Given the description of an element on the screen output the (x, y) to click on. 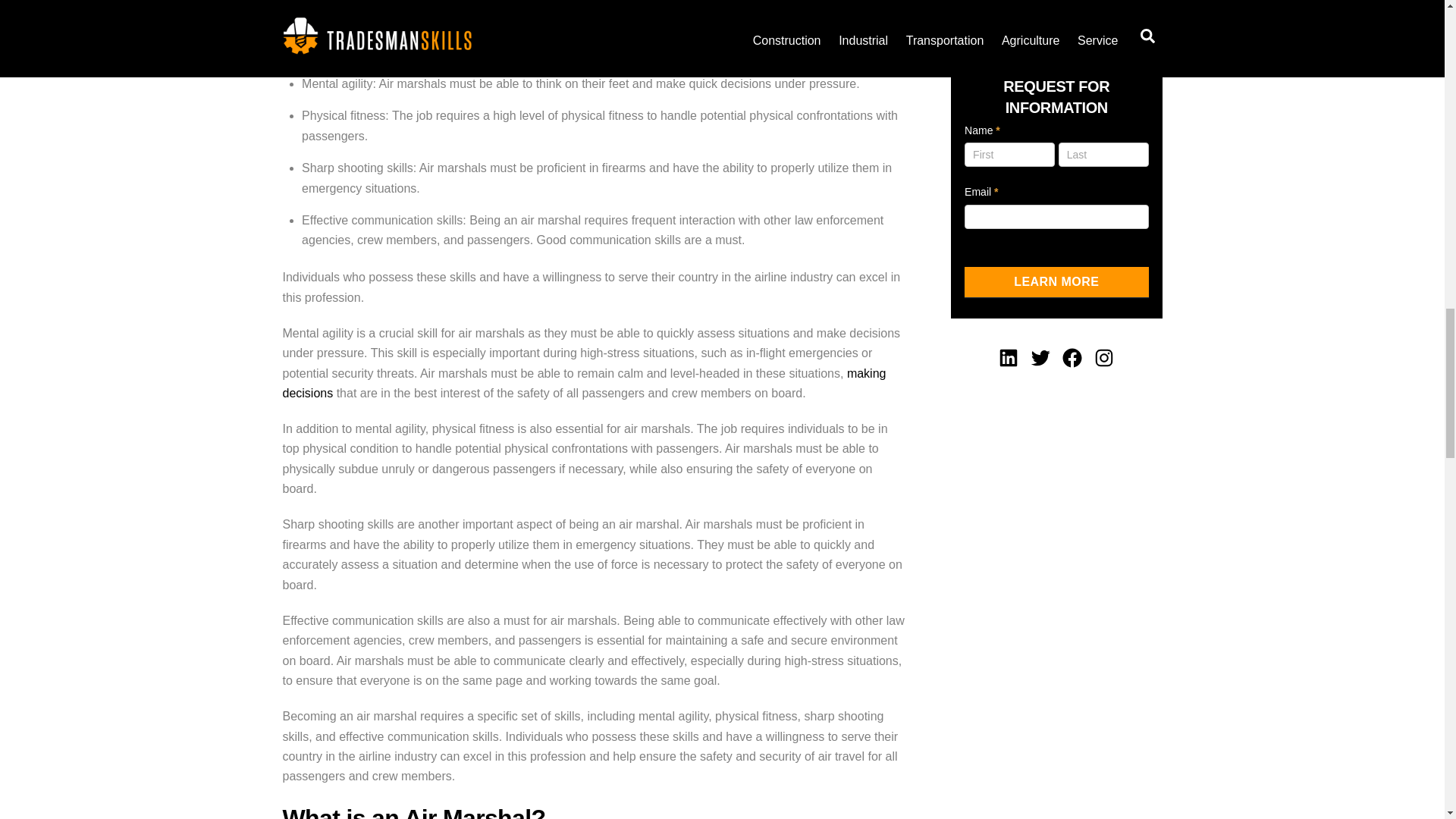
making decisions (583, 382)
